Given the description of an element on the screen output the (x, y) to click on. 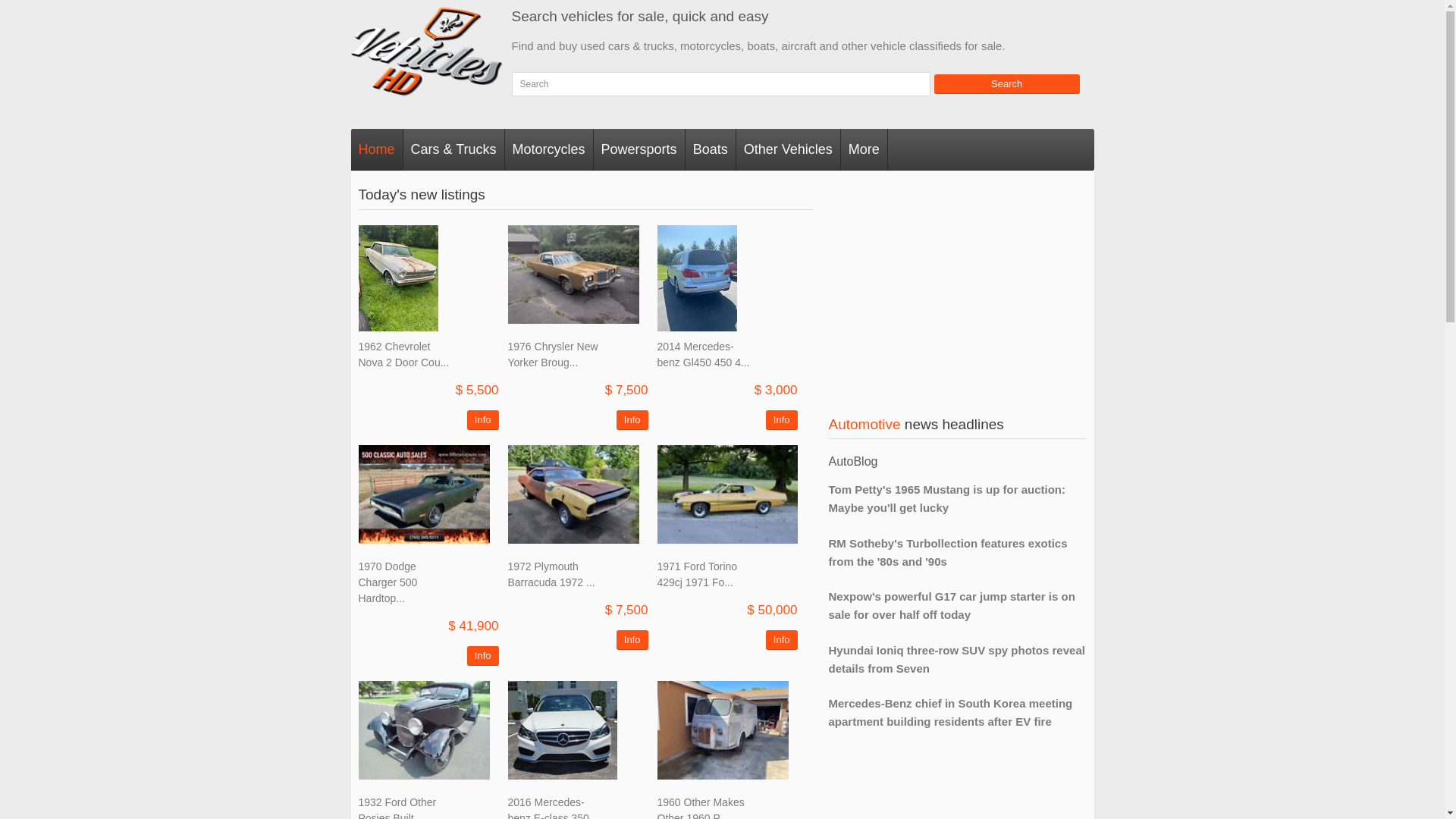
1962 Chevrolet Nova 2 Door Cou... (403, 354)
Powersports (639, 149)
Home (376, 149)
2014 Mercedes-benz Gl450 450 4... (702, 354)
Motorcycles (549, 149)
Search (1007, 84)
Other Vehicles (788, 149)
